Given the description of an element on the screen output the (x, y) to click on. 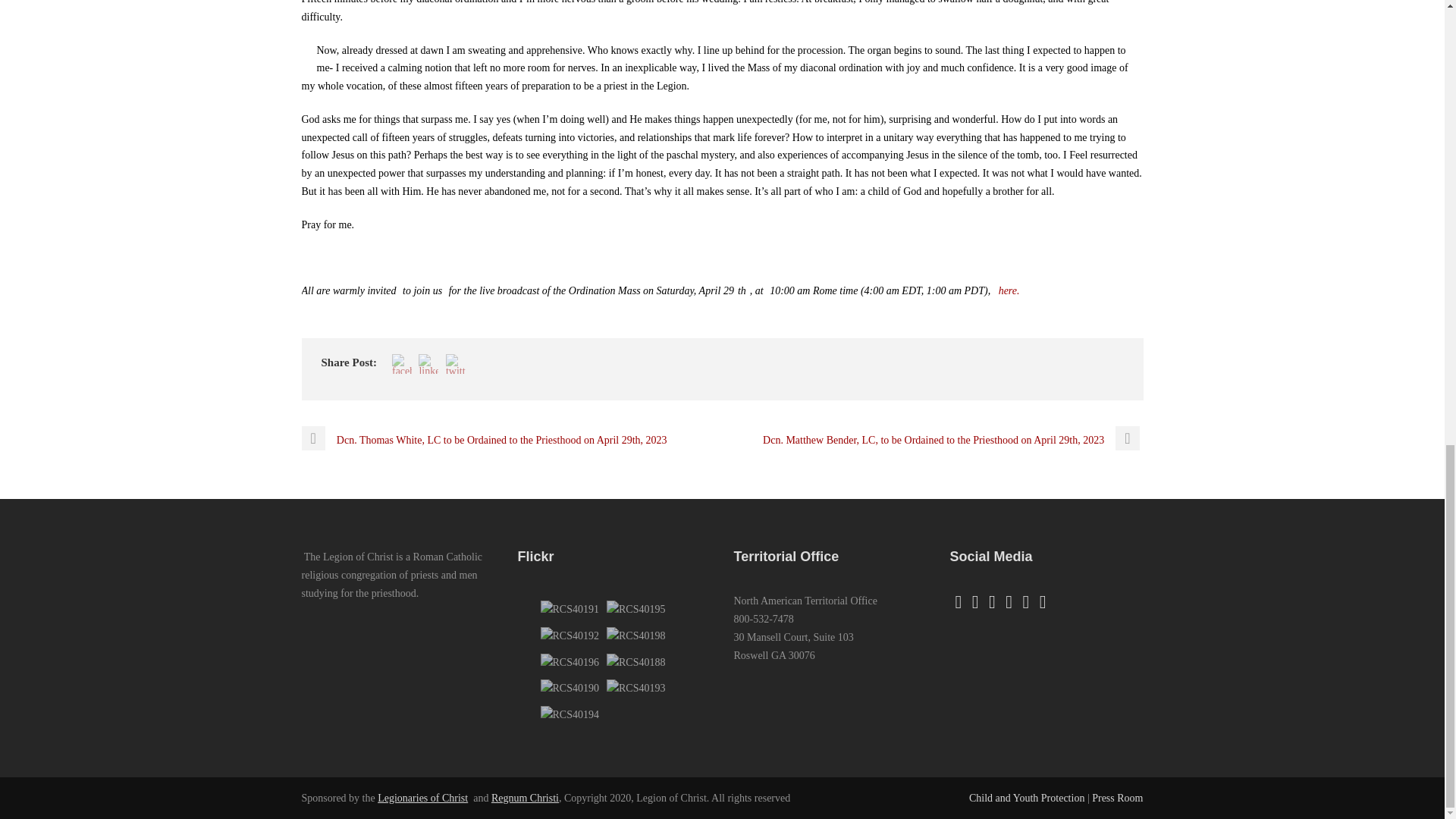
RCS40192 (569, 635)
RCS40196 (569, 661)
RCS40195 (636, 609)
RCS40191 (569, 609)
RCS40198 (636, 635)
